Given the description of an element on the screen output the (x, y) to click on. 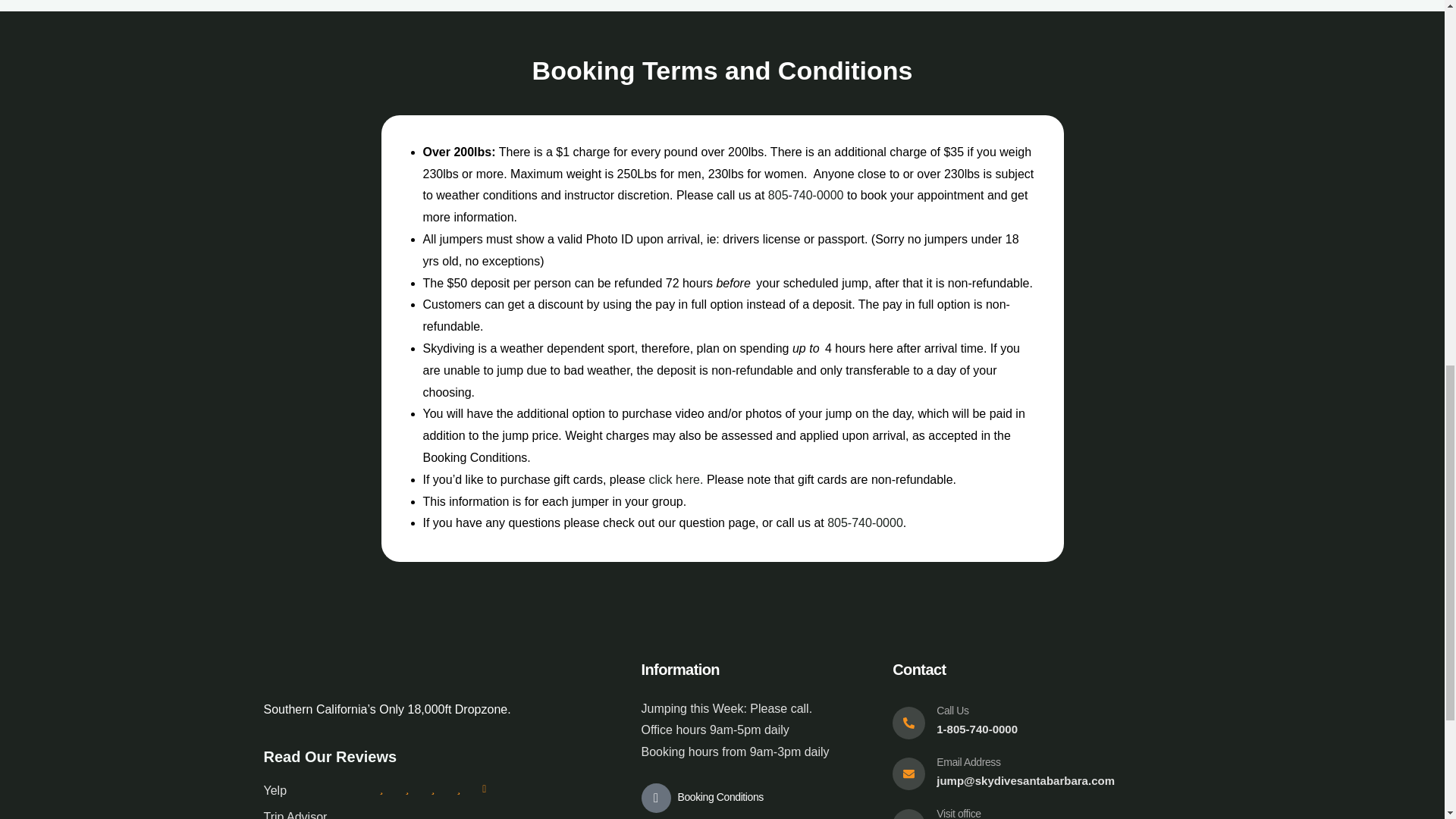
805-740-0000 (806, 195)
Yelp (274, 789)
click here. (675, 479)
805-740-0000 (864, 522)
